Given the description of an element on the screen output the (x, y) to click on. 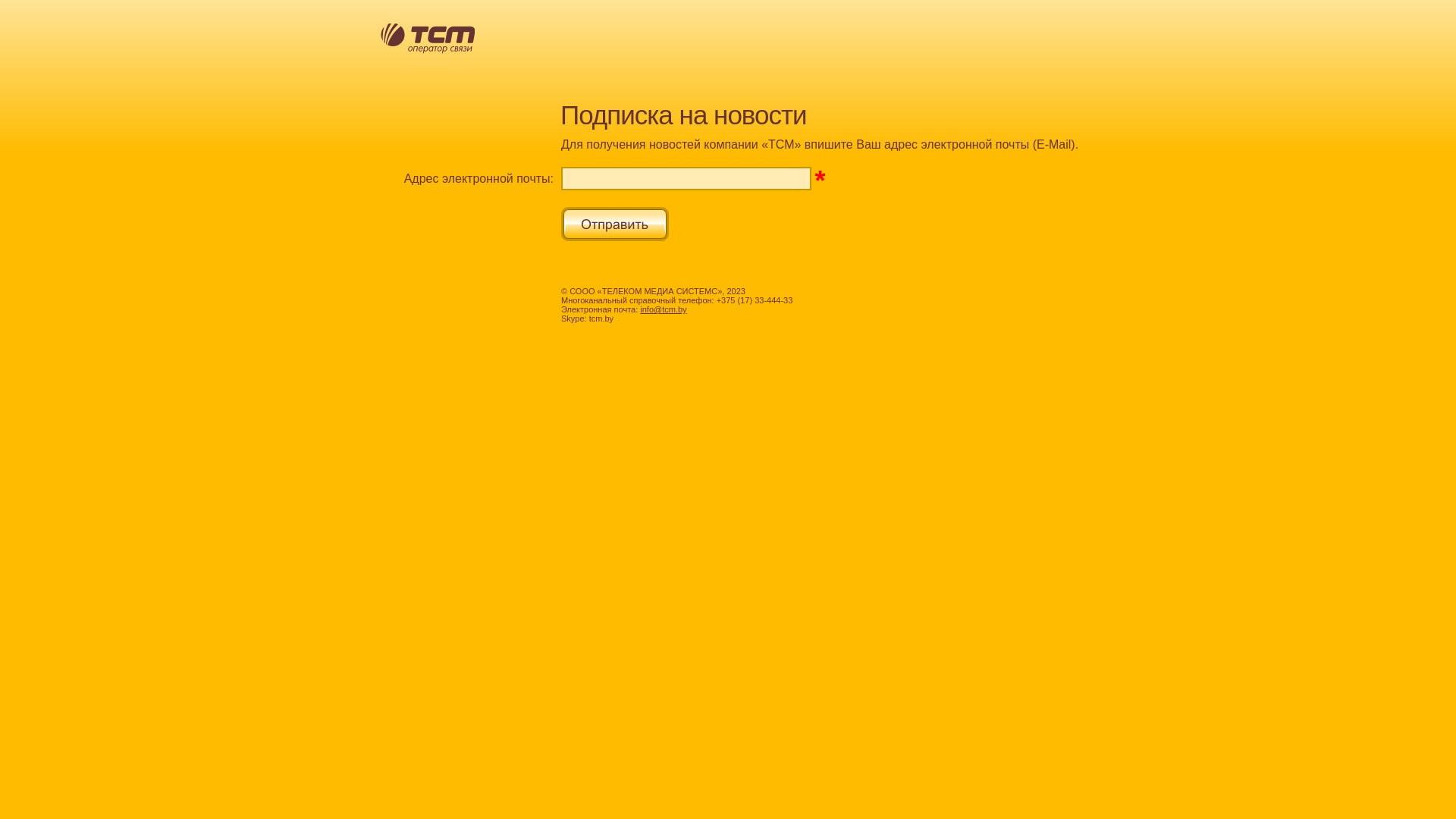
info@tcm.by Element type: text (663, 308)
